Given the description of an element on the screen output the (x, y) to click on. 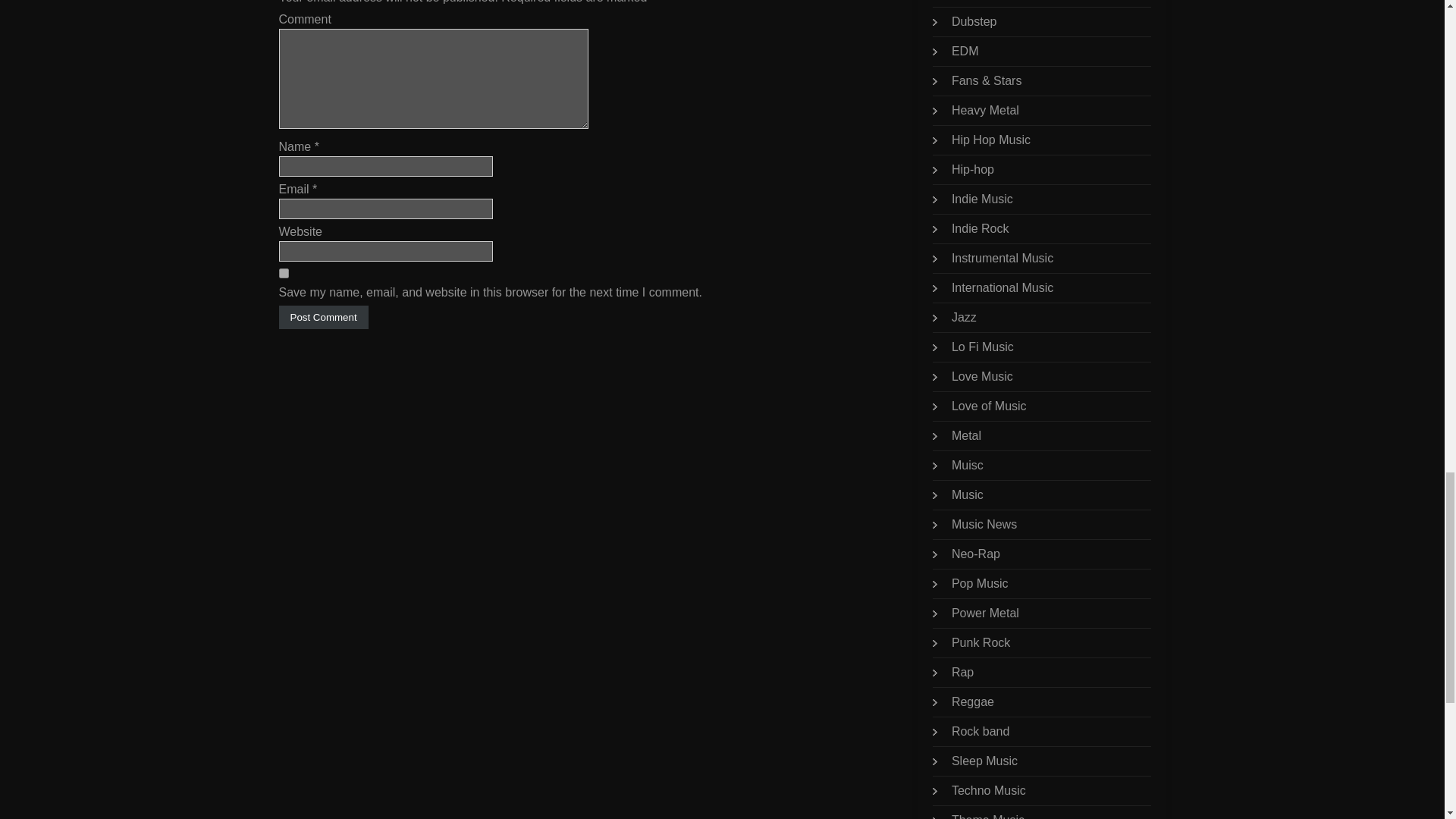
EDM (965, 51)
Heavy Metal (985, 110)
Post Comment (323, 317)
Post Comment (323, 317)
yes (283, 273)
Hip Hop Music (991, 139)
